Given the description of an element on the screen output the (x, y) to click on. 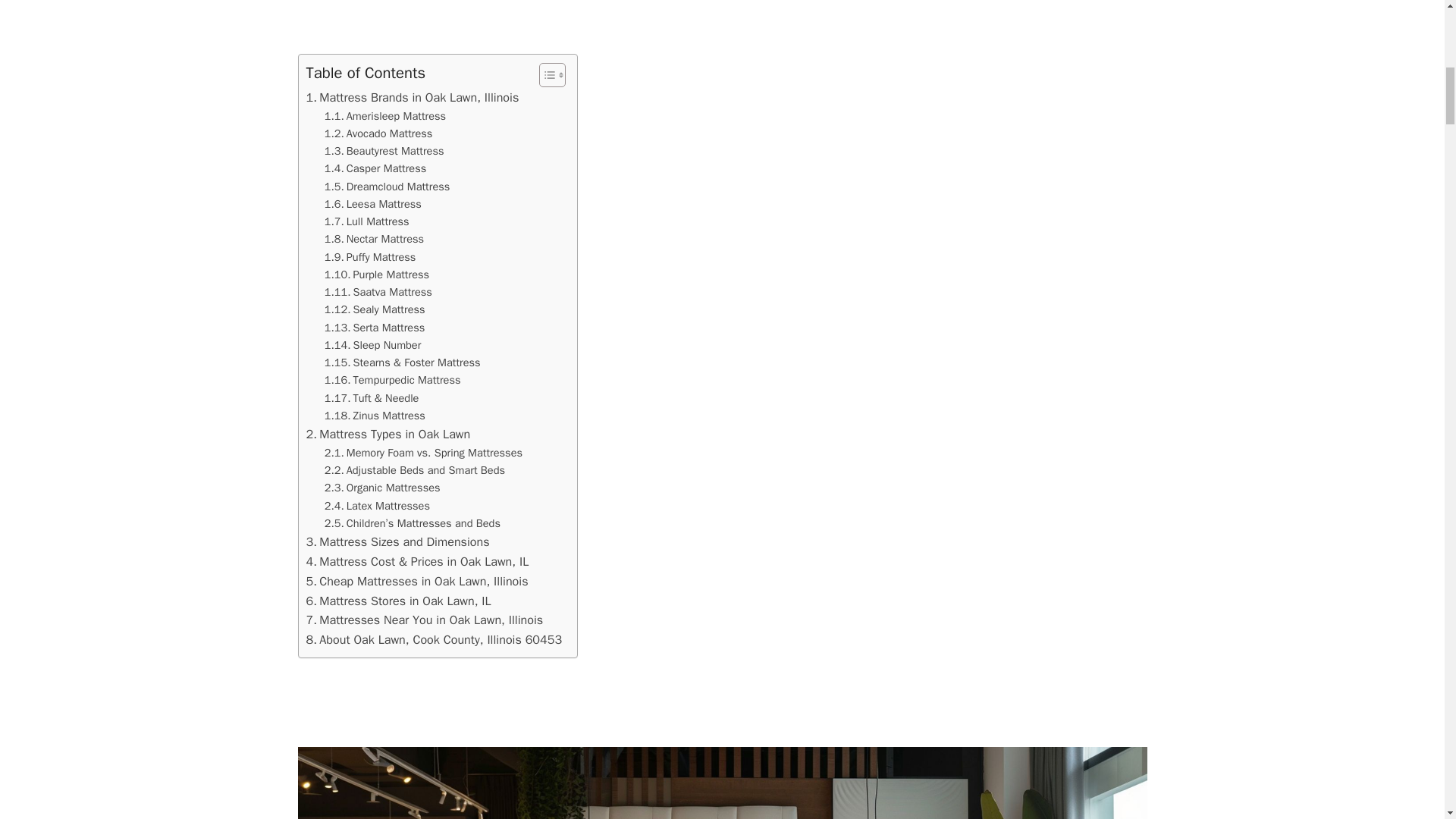
Nectar Mattress (373, 239)
Beautyrest Mattress (384, 150)
Leesa Mattress (373, 203)
Lull Mattress (366, 221)
Puffy Mattress (370, 257)
Avocado Mattress (378, 133)
Dreamcloud Mattress (386, 186)
Amerisleep Mattress (384, 116)
Purple Mattress (376, 274)
Saatva Mattress (378, 292)
